Given the description of an element on the screen output the (x, y) to click on. 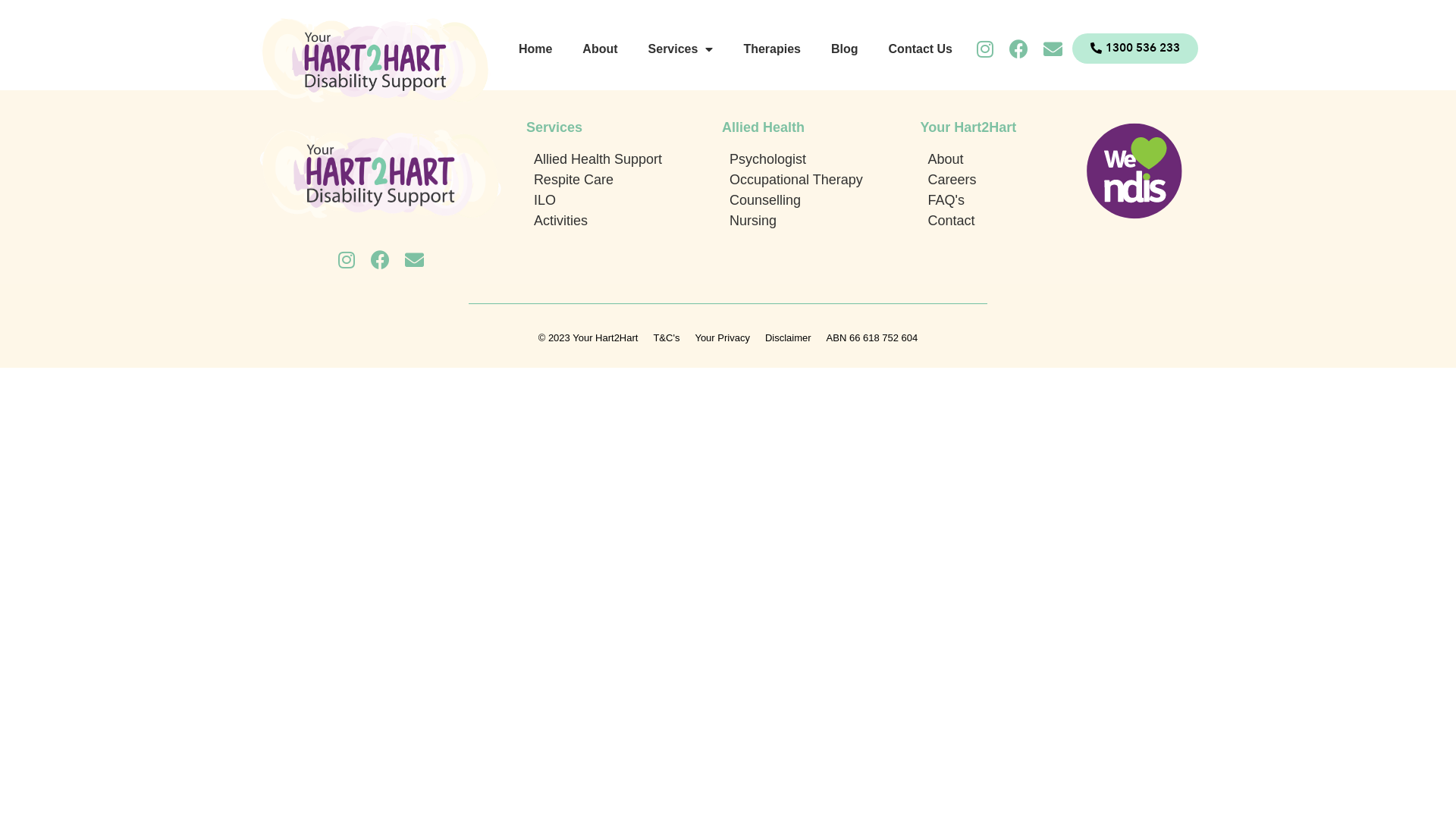
T&C's Element type: text (665, 337)
About Element type: text (599, 48)
Your Privacy Element type: text (721, 337)
Disclaimer Element type: text (788, 337)
ILO Element type: text (627, 200)
Contact Element type: text (993, 220)
Allied Health Support Element type: text (627, 159)
Activities Element type: text (627, 220)
Counselling Element type: text (822, 200)
FAQ's Element type: text (993, 200)
Occupational Therapy Element type: text (822, 179)
Services Element type: text (680, 48)
Respite Care Element type: text (627, 179)
Careers Element type: text (993, 179)
Blog Element type: text (844, 48)
Contact Us Element type: text (920, 48)
1300 536 233 Element type: text (1135, 48)
Therapies Element type: text (771, 48)
Psychologist Element type: text (822, 159)
Nursing Element type: text (822, 220)
Home Element type: text (535, 48)
About Element type: text (993, 159)
